Given the description of an element on the screen output the (x, y) to click on. 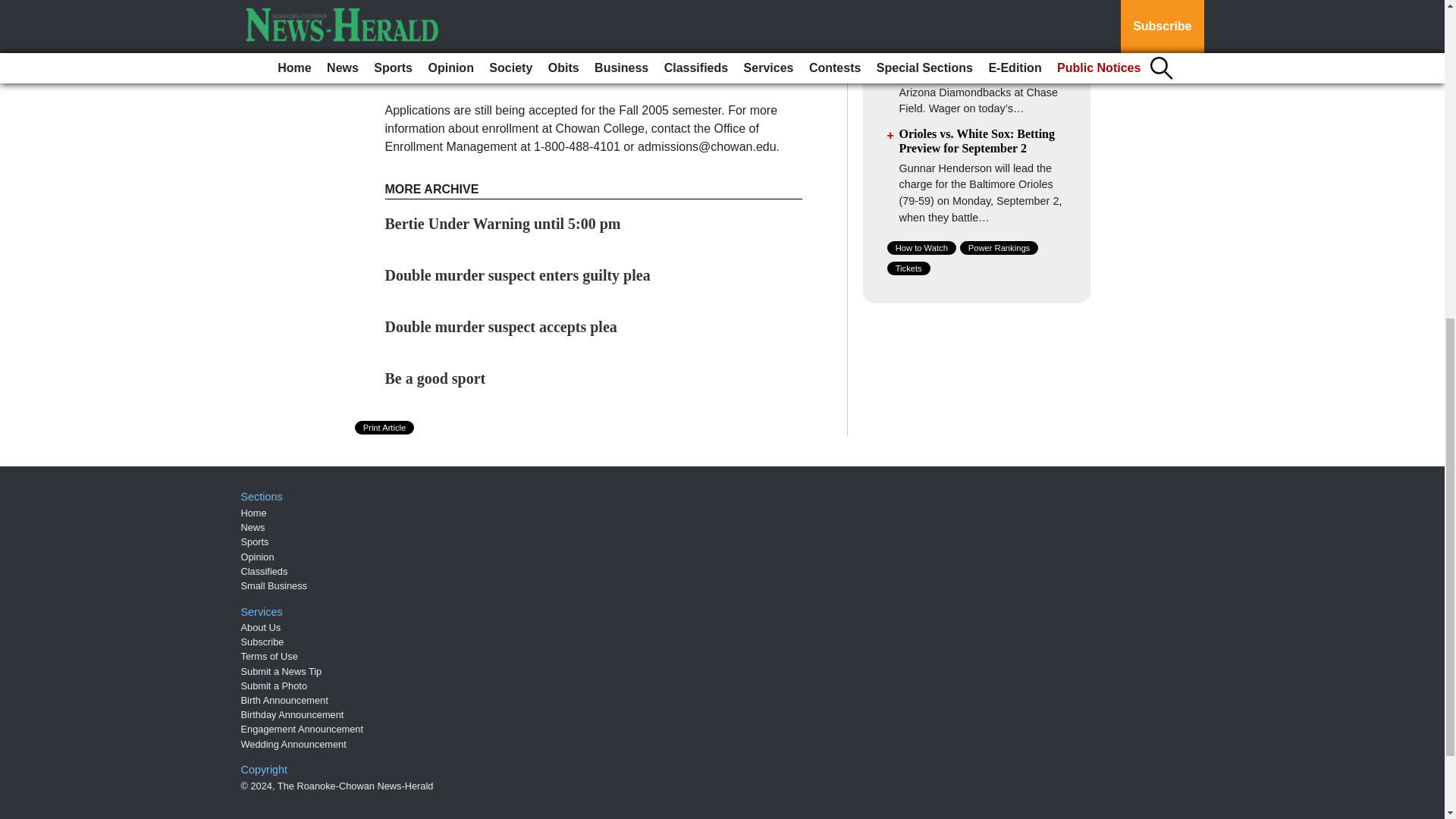
Be a good sport (435, 378)
Be a good sport (435, 378)
Bertie Under Warning until 5:00 pm (503, 223)
Double murder suspect accepts plea (501, 326)
Double murder suspect enters guilty plea (517, 274)
Print Article (384, 427)
Double murder suspect accepts plea (501, 326)
Double murder suspect enters guilty plea (517, 274)
Bertie Under Warning until 5:00 pm (503, 223)
